Given the description of an element on the screen output the (x, y) to click on. 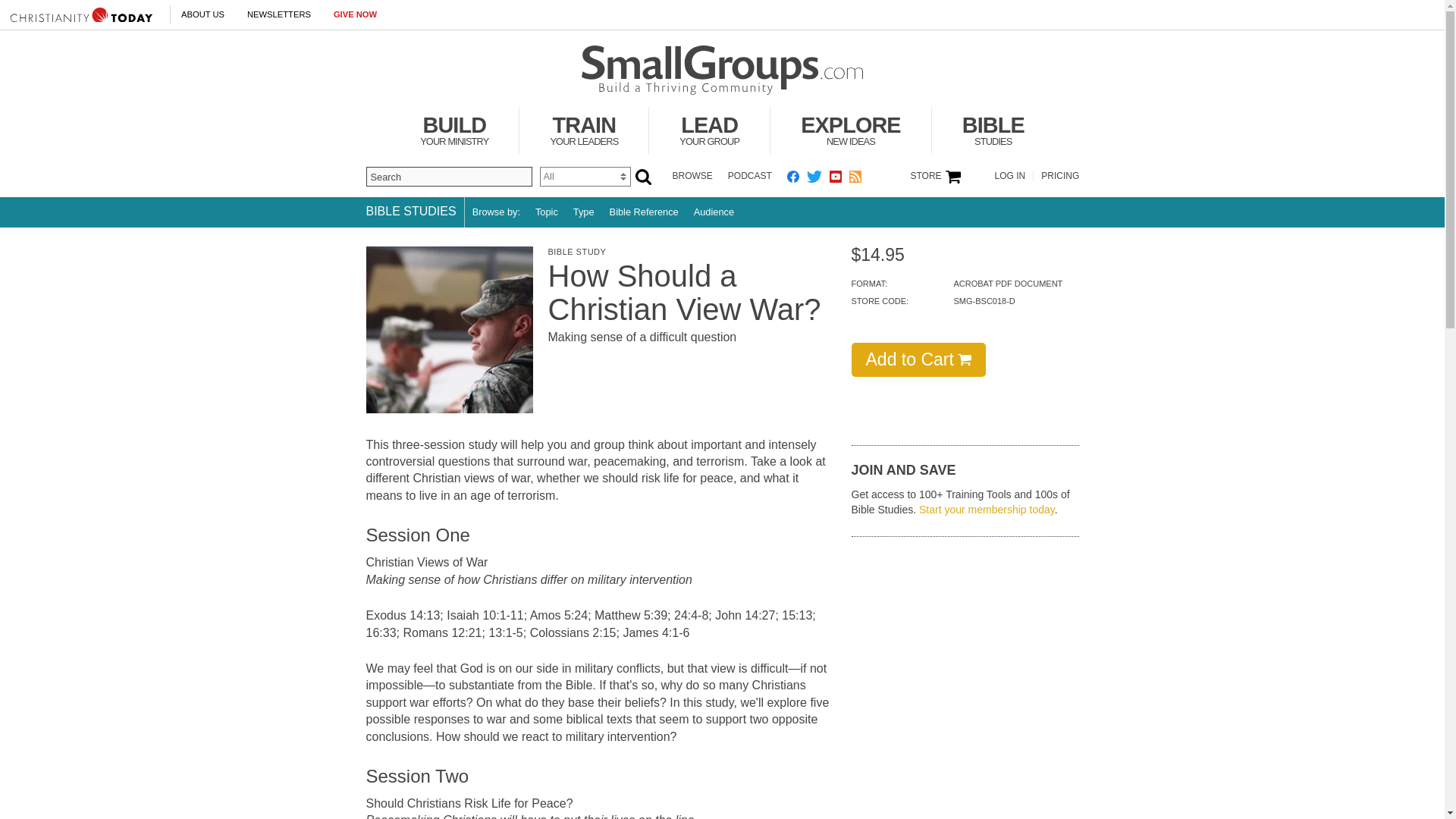
Connect with us on Facebook. (793, 176)
BROWSE (691, 175)
PODCAST (749, 175)
NEWSLETTERS (278, 14)
Small Groups (453, 130)
Christianity Today (721, 70)
Search (709, 130)
STORE (81, 14)
Topic (583, 130)
ABOUT US (448, 176)
